Given the description of an element on the screen output the (x, y) to click on. 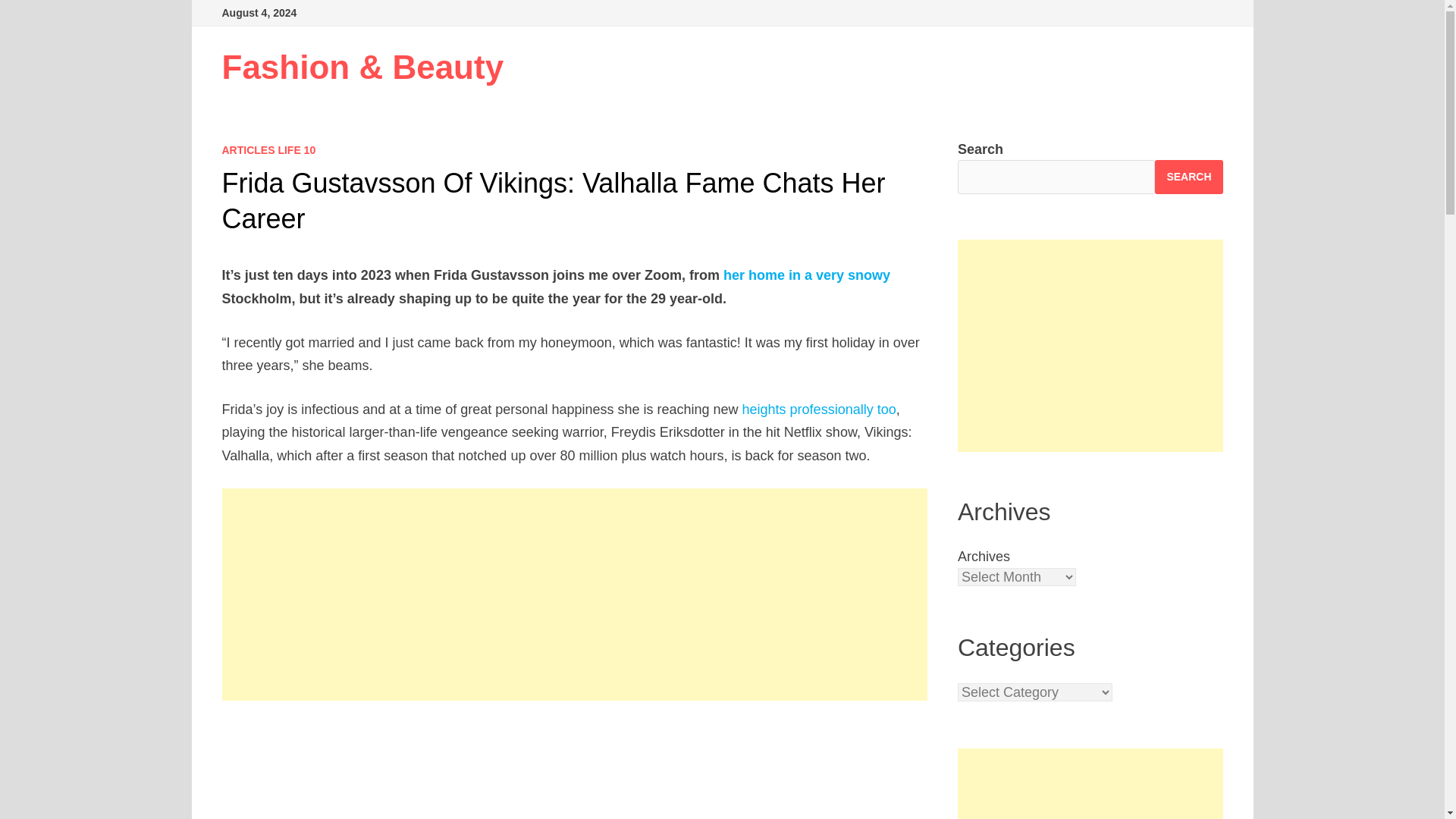
Advertisement (1090, 783)
ARTICLES LIFE 10 (268, 150)
her home in a very snowy (806, 274)
Advertisement (1090, 345)
heights professionally too (819, 409)
SEARCH (1188, 176)
Advertisement (574, 770)
